Given the description of an element on the screen output the (x, y) to click on. 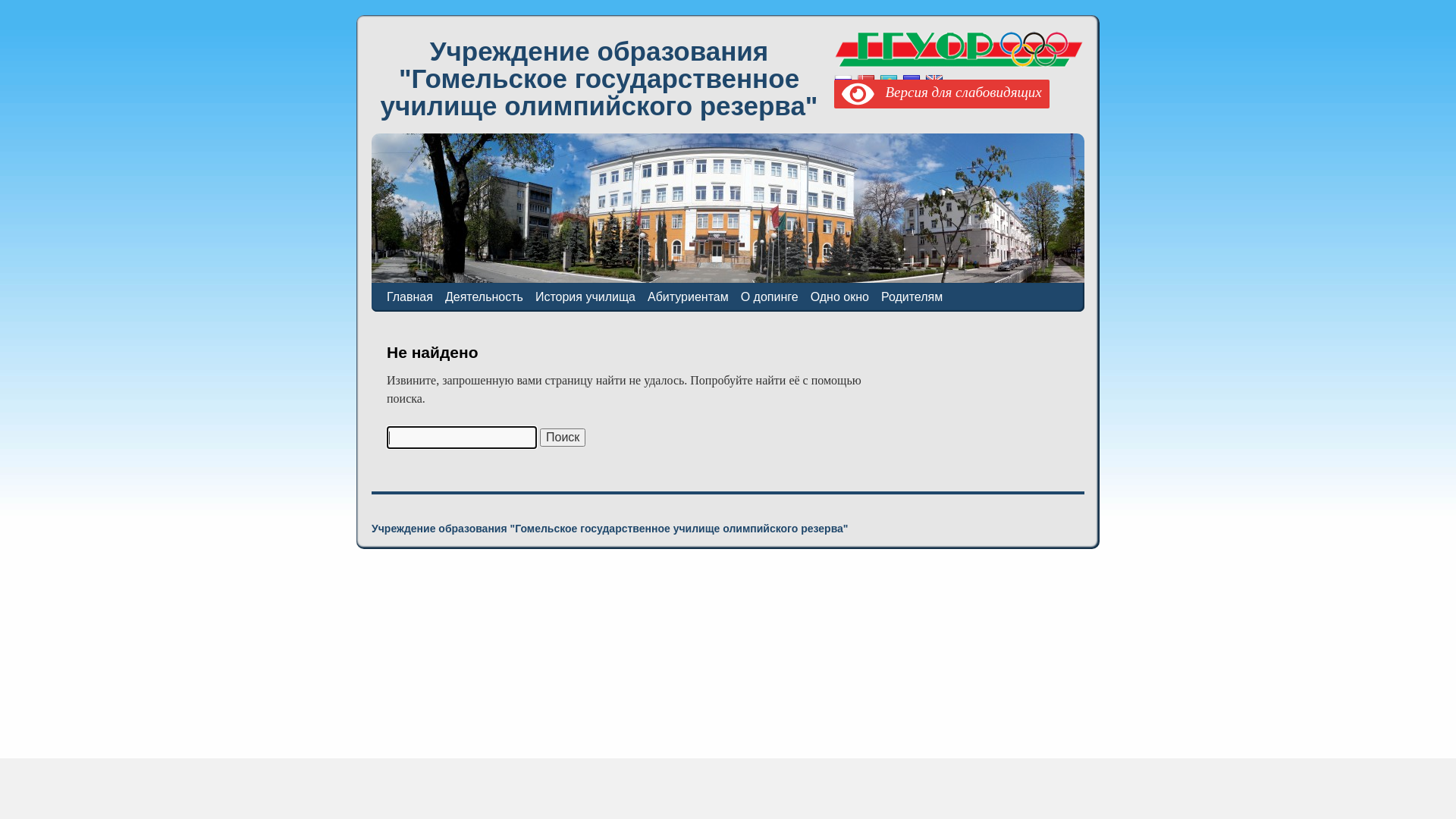
Ukrainian Element type: hover (911, 81)
Russian Element type: hover (843, 81)
Belarusian Element type: hover (865, 81)
English Element type: hover (934, 81)
Kazakh Element type: hover (888, 81)
